Given the description of an element on the screen output the (x, y) to click on. 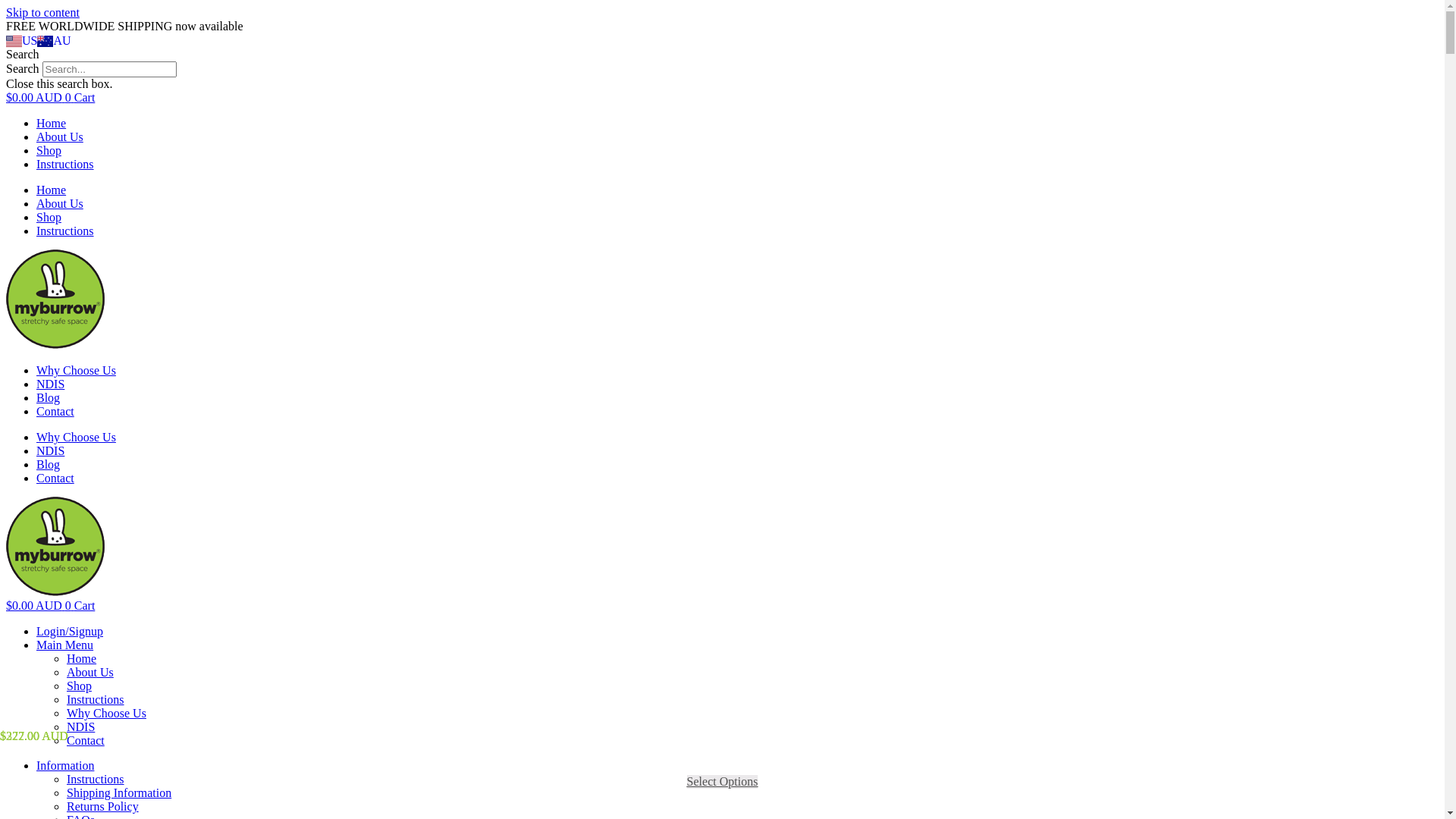
Main Menu Element type: text (64, 644)
Skip to content Element type: text (42, 12)
Home Element type: text (50, 189)
Shipping Information Element type: text (118, 792)
NDIS Element type: text (50, 383)
Instructions Element type: text (95, 778)
Returns Policy Element type: text (102, 806)
Home Element type: text (50, 122)
NDIS Element type: text (50, 450)
AU Element type: text (53, 40)
Information Element type: text (65, 765)
Select Options Element type: text (722, 781)
Shop Element type: text (48, 216)
Instructions Element type: text (65, 230)
$0.00 AUD 0 Cart Element type: text (50, 605)
Blog Element type: text (47, 397)
Why Choose Us Element type: text (76, 436)
About Us Element type: text (59, 136)
Contact Element type: text (55, 410)
Why Choose Us Element type: text (106, 712)
Why Choose Us Element type: text (76, 370)
Instructions Element type: text (95, 699)
NDIS Element type: text (80, 726)
Login/Signup Element type: text (69, 630)
Blog Element type: text (47, 464)
Shop Element type: text (48, 150)
Home Element type: text (81, 658)
Shop Element type: text (78, 685)
About Us Element type: text (89, 671)
Contact Element type: text (55, 477)
$0.00 AUD 0 Cart Element type: text (50, 97)
US Element type: text (21, 40)
Instructions Element type: text (65, 163)
Contact Element type: text (85, 740)
About Us Element type: text (59, 203)
